Given the description of an element on the screen output the (x, y) to click on. 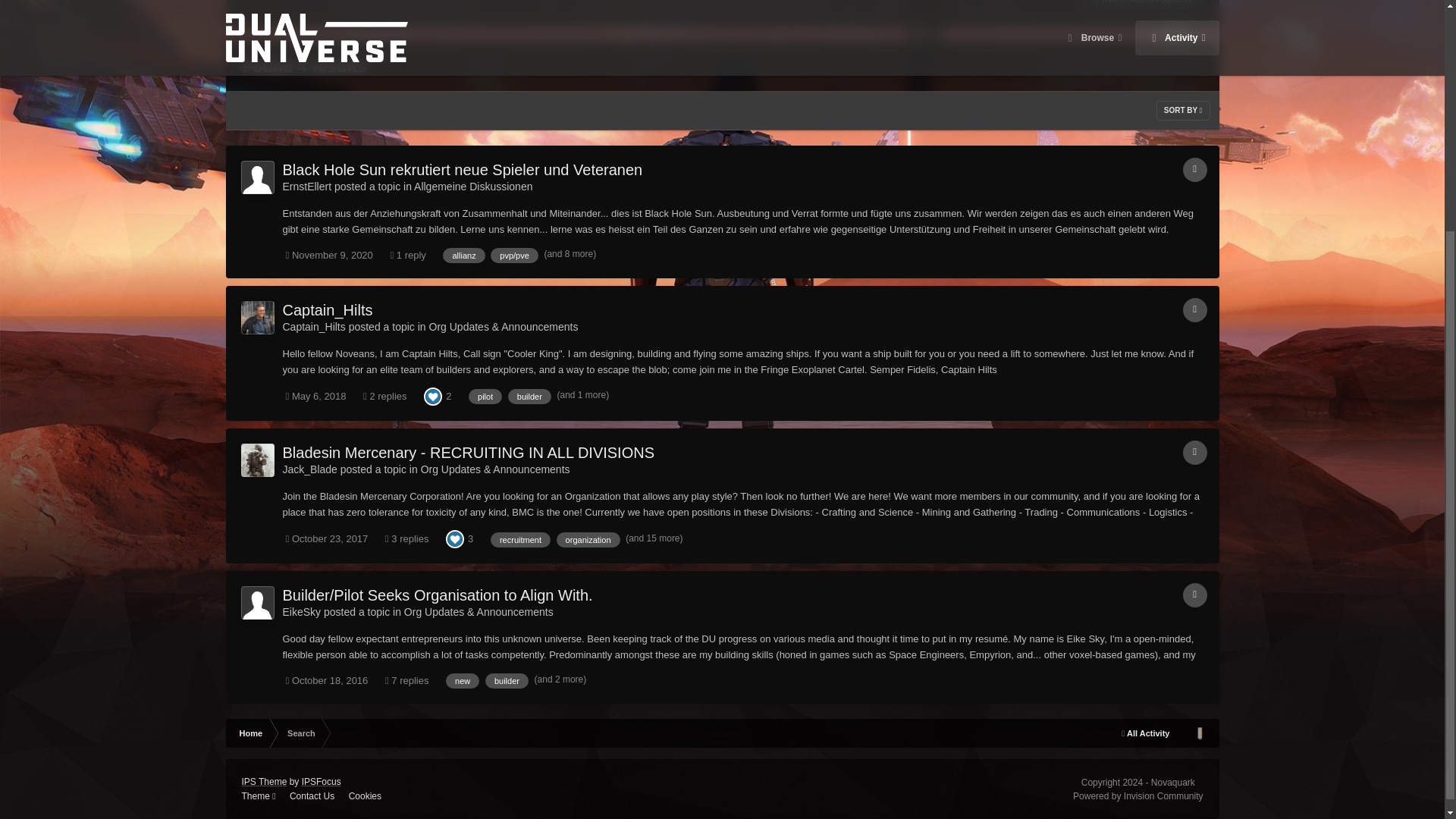
Topic (1194, 169)
Go to ErnstEllert's profile (306, 186)
Find other content tagged with 'allianz' (463, 255)
More search options (1143, 5)
Go to ErnstEllert's profile (258, 177)
